Given the description of an element on the screen output the (x, y) to click on. 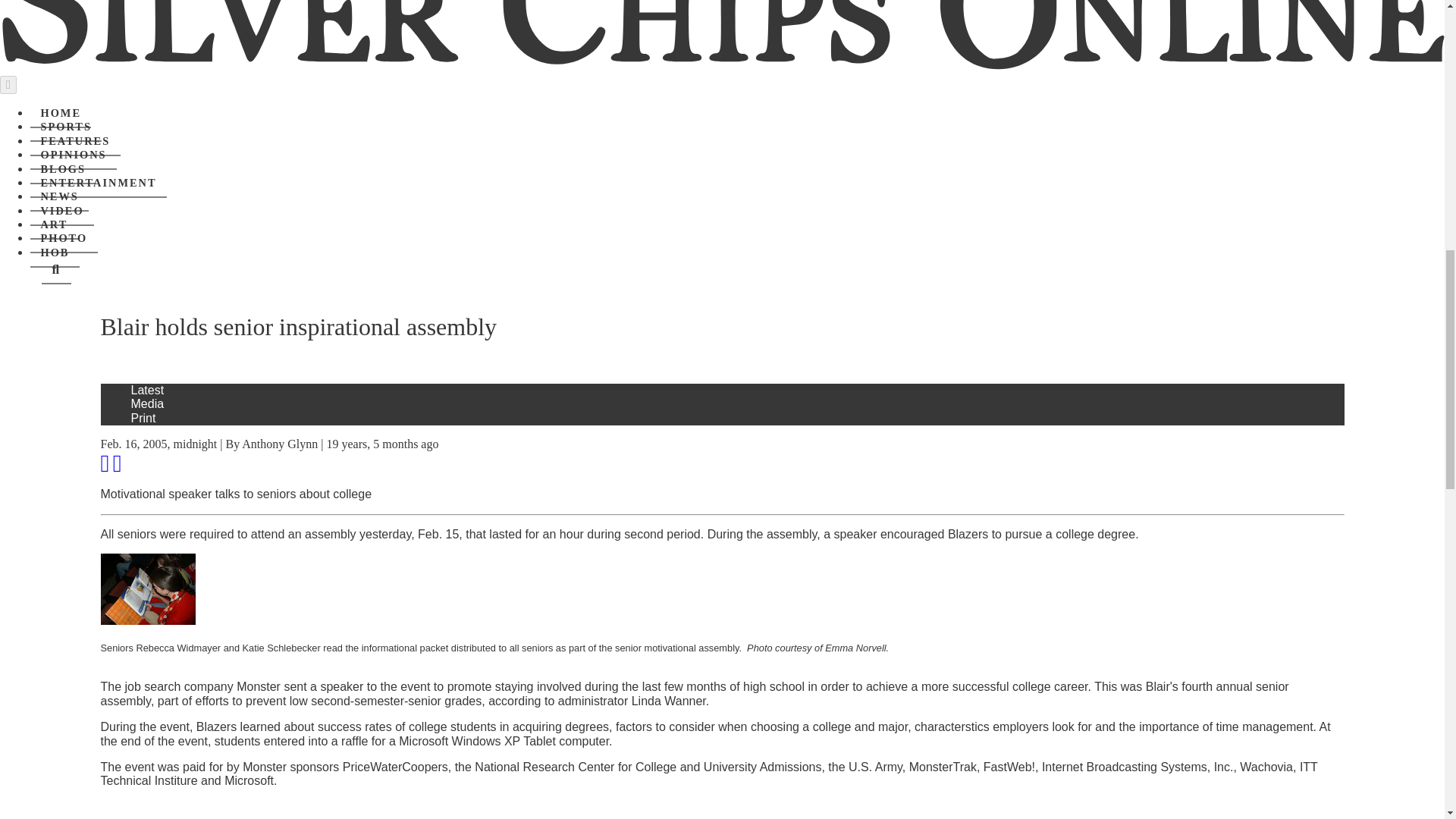
Latest (147, 390)
PHOTO (63, 238)
NEWS (59, 196)
BLOGS (63, 169)
Print (143, 418)
Anthony Glynn (279, 443)
ENTERTAINMENT (98, 183)
VIDEO (62, 211)
FEATURES (75, 141)
OPINIONS (73, 154)
HOB (55, 253)
ART (54, 224)
HOME (60, 113)
Media (147, 403)
SPORTS (65, 127)
